Given the description of an element on the screen output the (x, y) to click on. 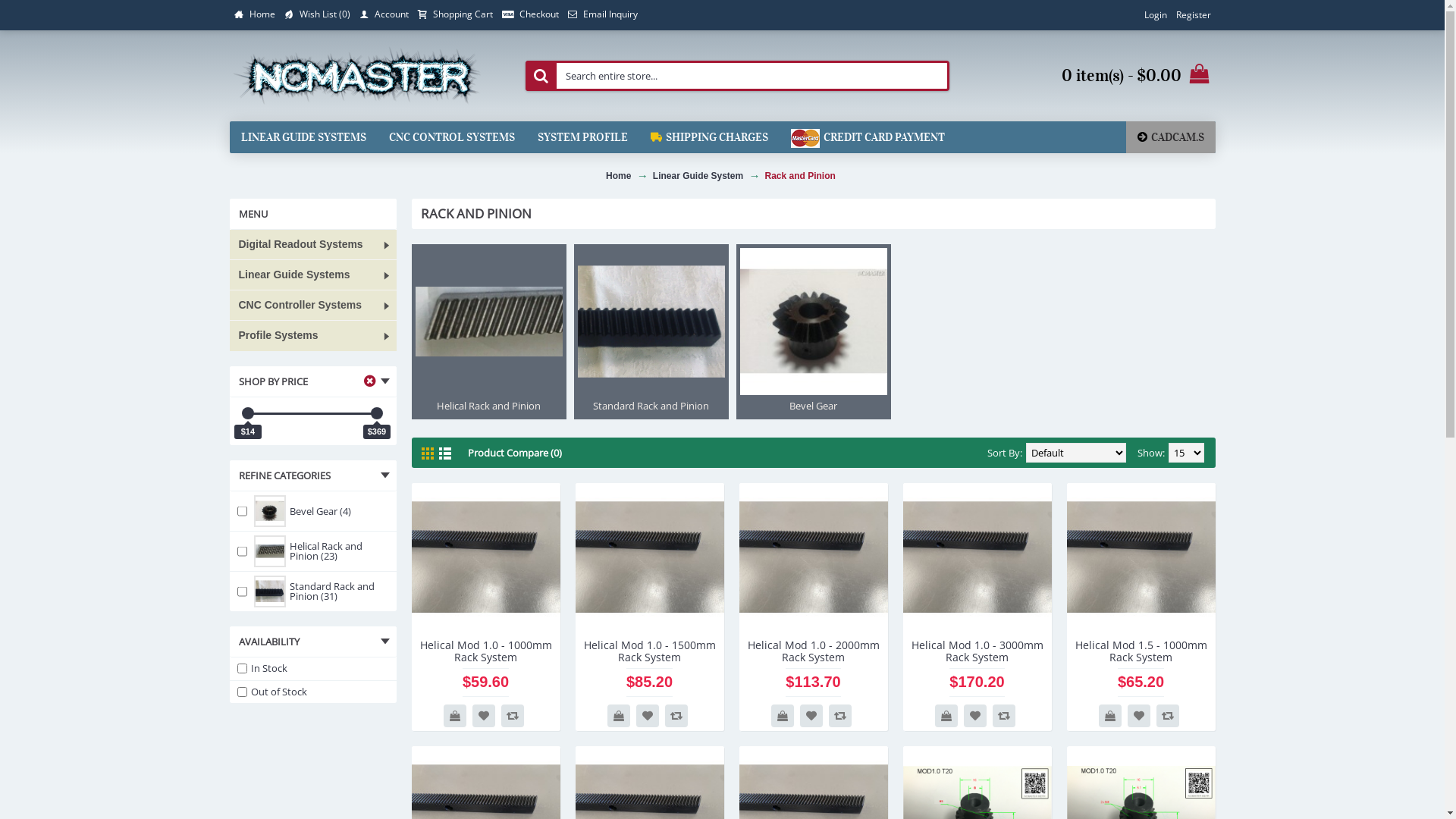
Login Element type: text (1154, 15)
Checkout Element type: text (530, 15)
NCMaster Industries Element type: hover (356, 75)
Home Element type: text (617, 175)
Helical Mod 1.0 - 1500mm Rack System Element type: text (648, 649)
Helical Mod 1.0 - 2000mm Rack System Element type: text (812, 649)
Helical Mod 1.0 - 3000mm Rack System Element type: text (976, 649)
CADCAM.S Element type: text (1169, 137)
Linear Guide System Element type: text (697, 175)
LINEAR GUIDE SYSTEMS Element type: text (302, 137)
Helical Rack and Pinion Element type: text (488, 331)
Helical Mod 1.0 - 2000mm Rack System Element type: hover (812, 557)
Helical Mod 1.0 - 1000mm Rack System Element type: hover (485, 557)
Helical Mod 1.0 - 3000mm Rack System Element type: hover (976, 557)
Product Compare (0) Element type: text (514, 452)
Home Element type: text (254, 15)
Helical Mod 1.0 - 1000mm Rack System Element type: text (485, 649)
Digital Readout Systems Element type: text (312, 244)
Bevel Gear Element type: text (812, 331)
SHIPPING CHARGES Element type: text (708, 137)
CREDIT CARD PAYMENT Element type: text (867, 137)
Wish List (0) Element type: text (316, 15)
Profile Systems Element type: text (312, 335)
CNC CONTROL SYSTEMS Element type: text (451, 137)
Register Element type: text (1192, 15)
Rack and Pinion Element type: text (800, 175)
Helical Mod 1.5 - 1000mm Rack System Element type: text (1140, 649)
0 item(s) - $0.00 Element type: text (1092, 75)
SYSTEM PROFILE Element type: text (582, 137)
Helical Mod 1.0 - 1500mm Rack System Element type: hover (648, 557)
CNC Controller Systems Element type: text (312, 305)
Helical Mod 1.5 - 1000mm Rack System Element type: hover (1140, 557)
Account Element type: text (383, 15)
Email Inquiry Element type: text (601, 15)
Linear Guide Systems Element type: text (312, 275)
Standard Rack and Pinion Element type: text (650, 331)
Shopping Cart Element type: text (454, 15)
